Given the description of an element on the screen output the (x, y) to click on. 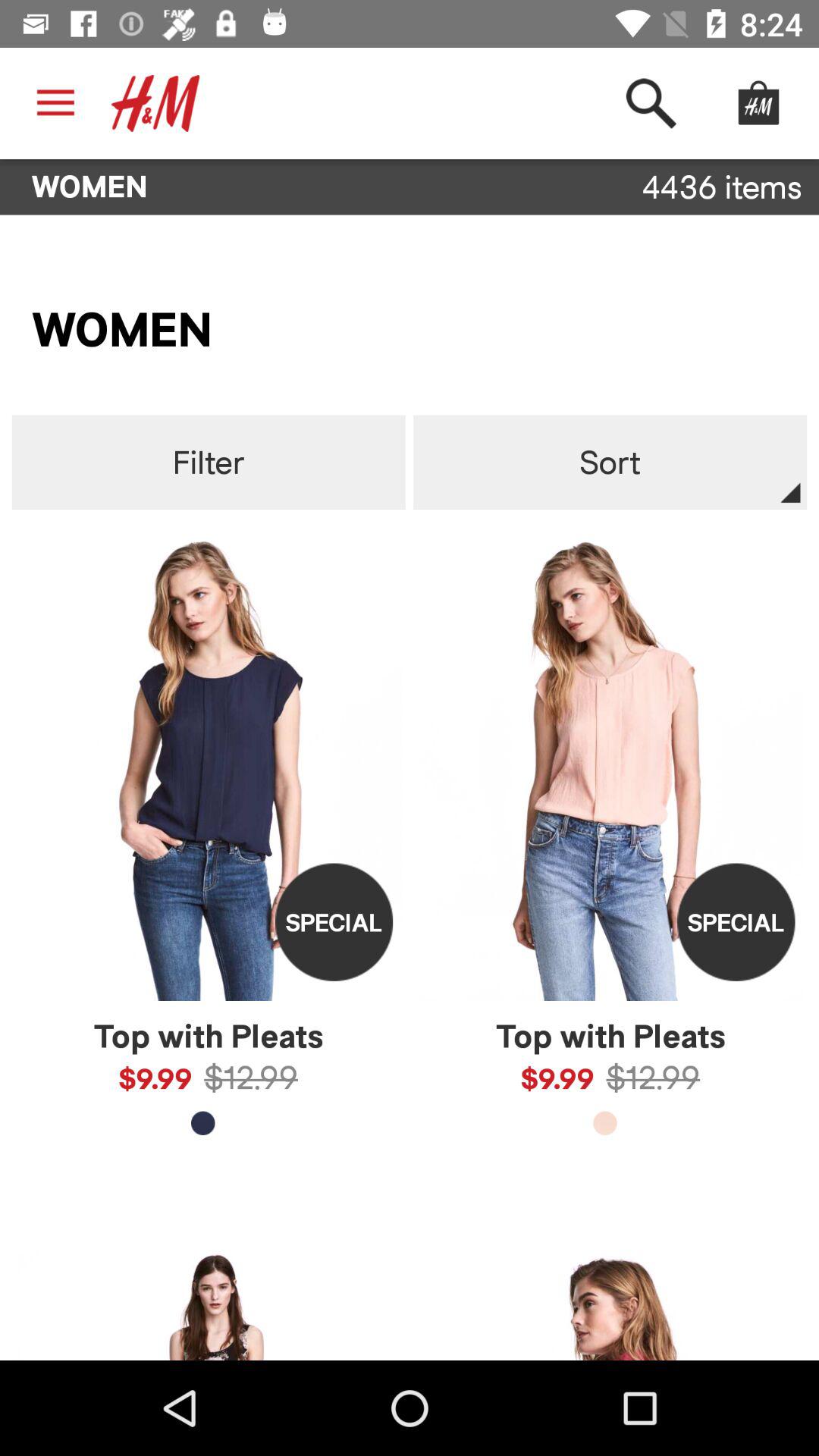
turn off icon to the left of sort item (208, 462)
